Given the description of an element on the screen output the (x, y) to click on. 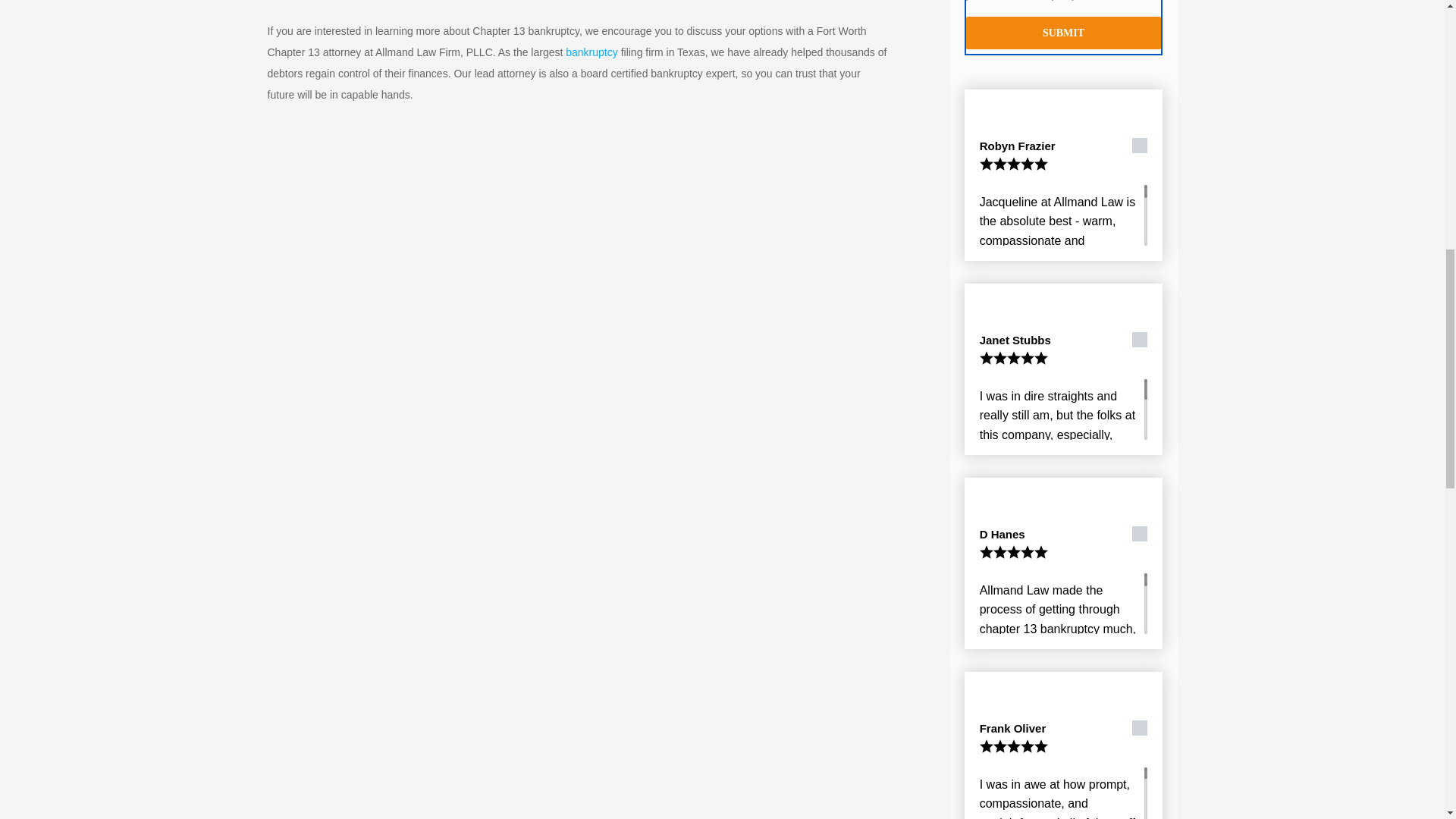
Submit (1063, 32)
